Given the description of an element on the screen output the (x, y) to click on. 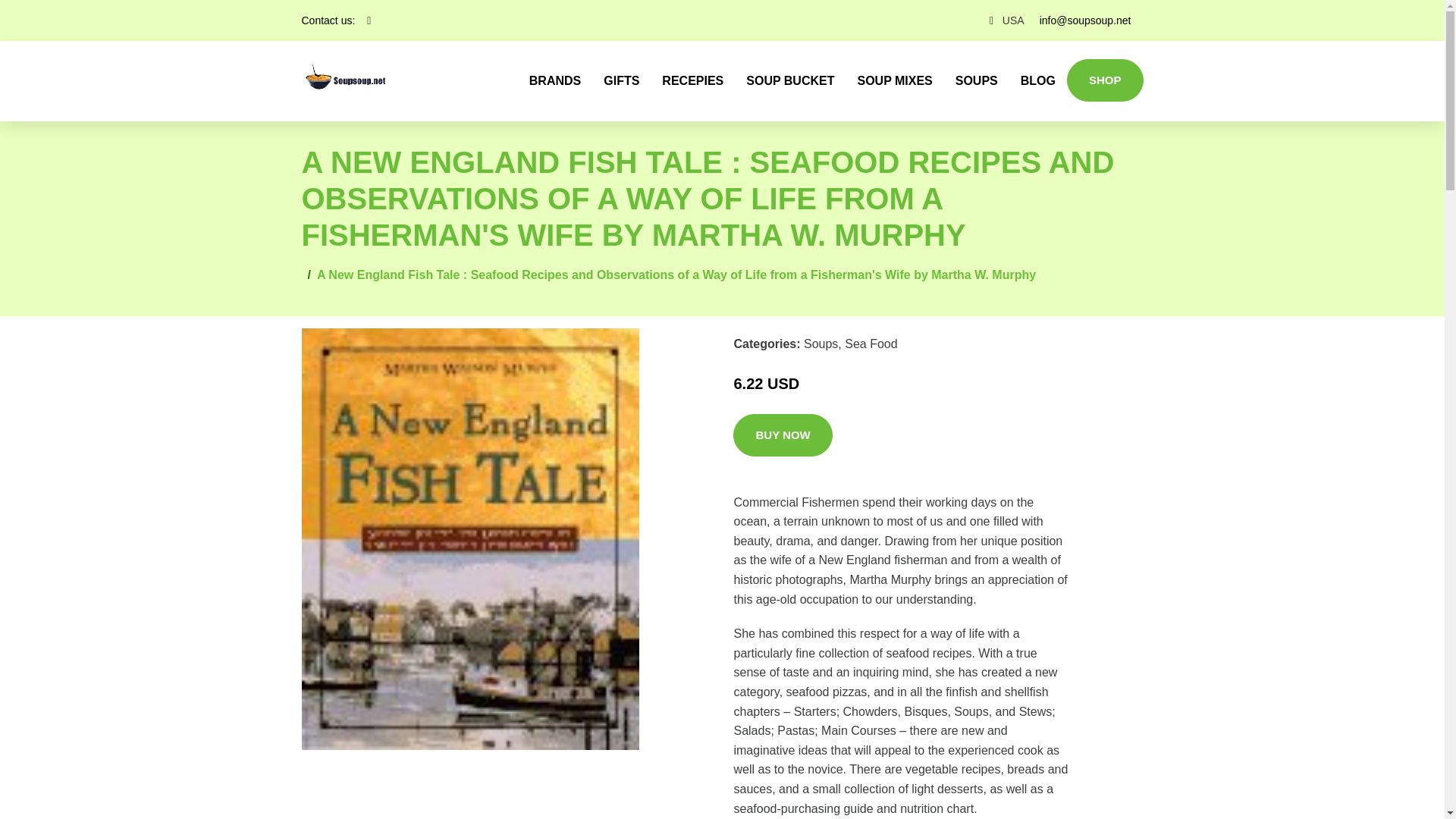
SOUP MIXES (894, 80)
SOUP BUCKET (790, 80)
GIFTS (621, 80)
BUY NOW (782, 435)
Soups (820, 343)
BLOG (1038, 80)
RECEPIES (692, 80)
Sea Food (870, 343)
SHOP (1104, 79)
USA (1014, 20)
BRANDS (555, 80)
SOUPS (976, 80)
